Given the description of an element on the screen output the (x, y) to click on. 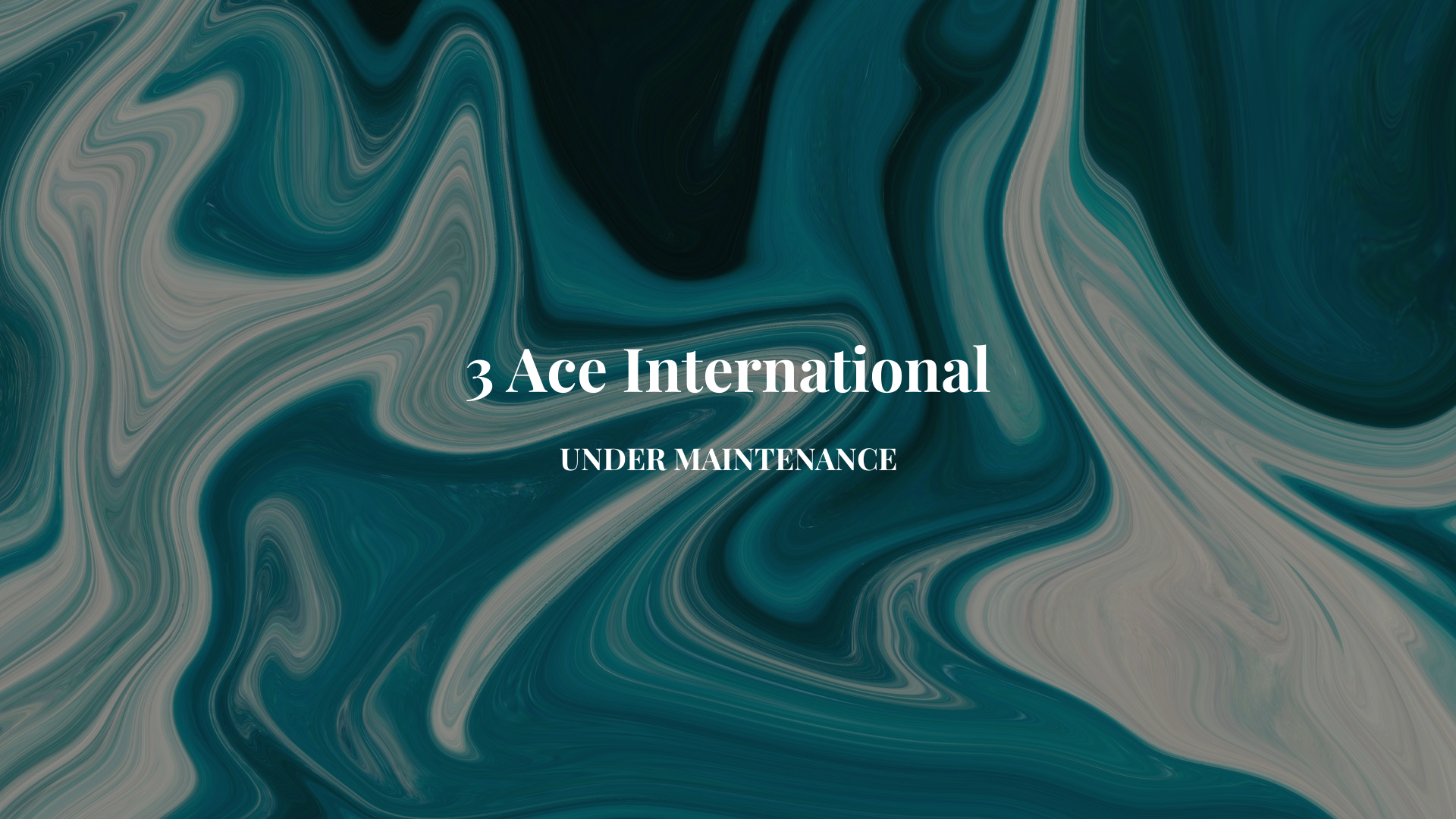
3 Ace International Element type: text (727, 380)
